Given the description of an element on the screen output the (x, y) to click on. 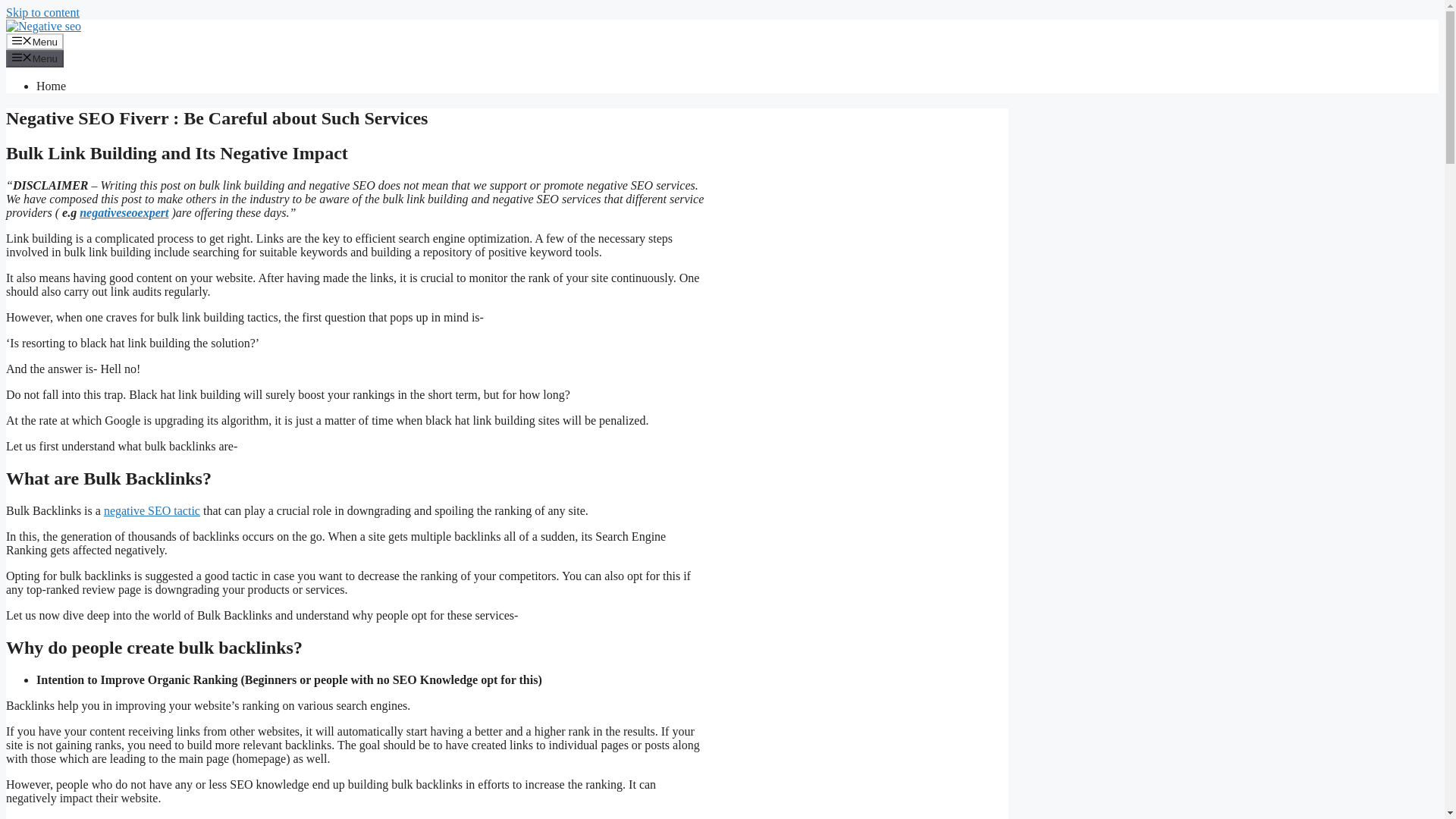
negativeseoexpert (124, 212)
negative SEO tactic (151, 510)
Skip to content (42, 11)
Menu (34, 41)
Skip to content (42, 11)
Home (50, 85)
Menu (34, 57)
